Given the description of an element on the screen output the (x, y) to click on. 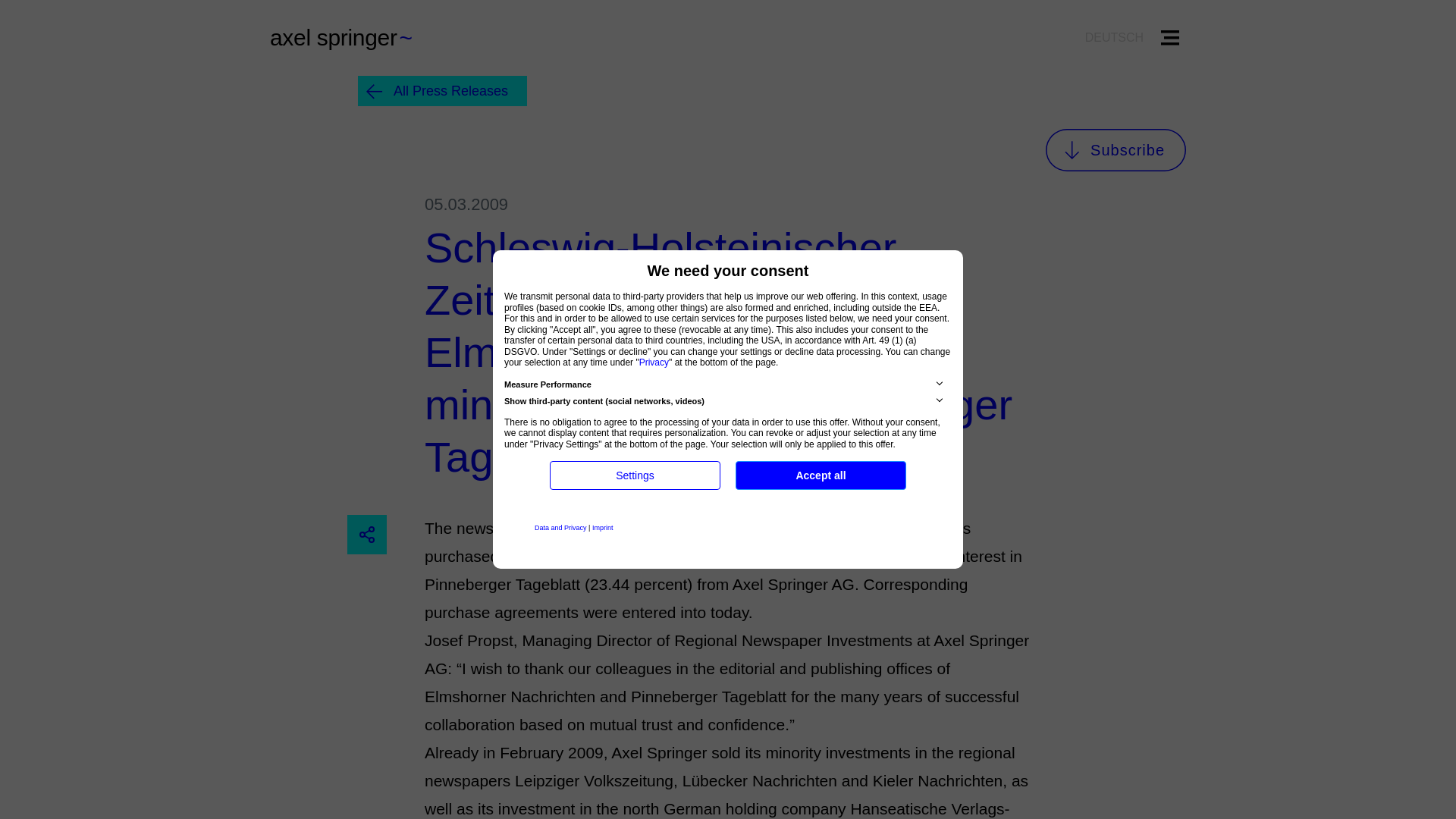
Subscribe (1115, 149)
DEUTSCH (1114, 37)
Home (351, 38)
All Press Releases (442, 91)
